Given the description of an element on the screen output the (x, y) to click on. 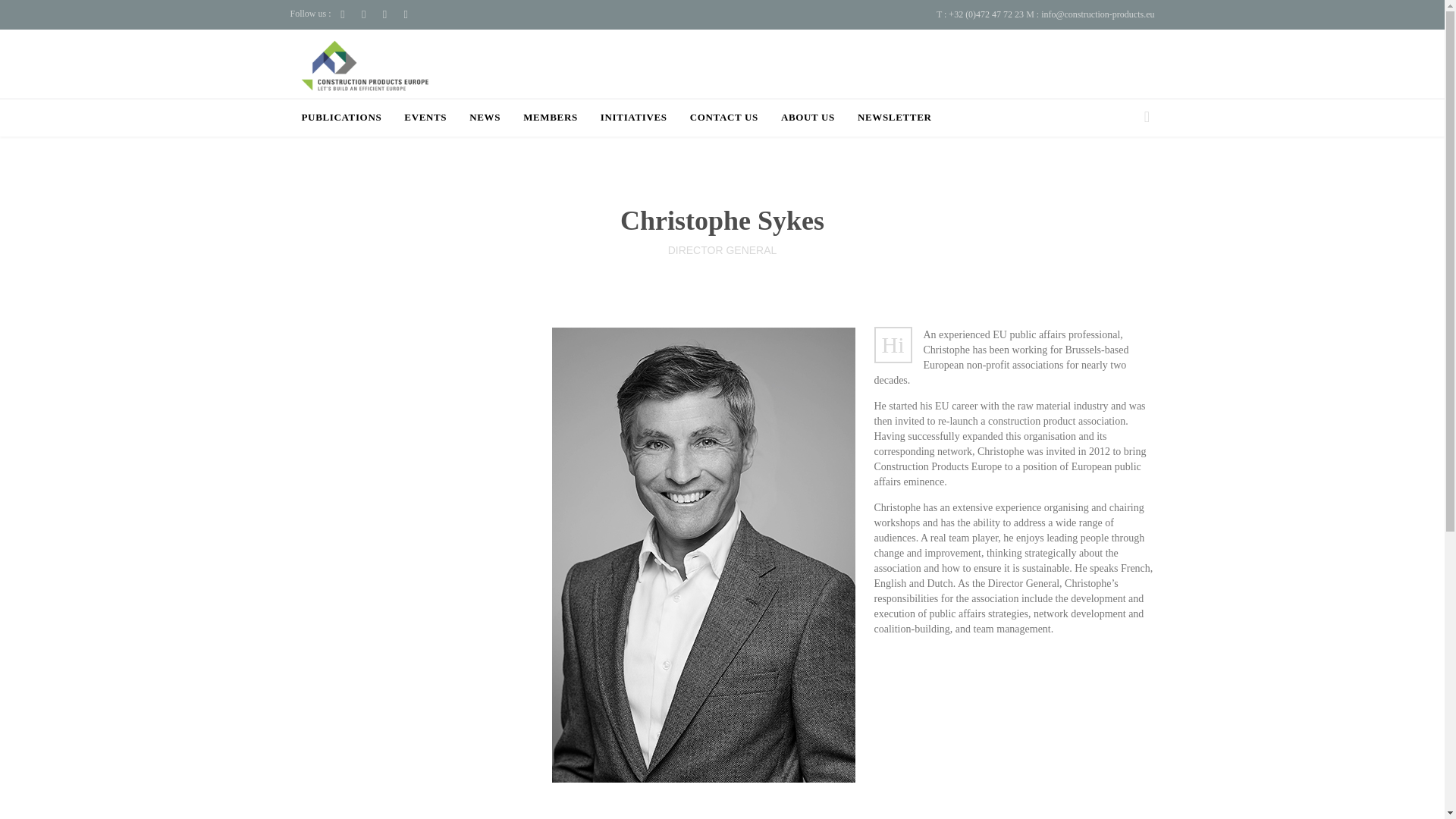
INITIATIVES (632, 118)
EVENTS (425, 118)
PUBLICATIONS (341, 118)
CONTACT US (724, 118)
ABOUT US (807, 118)
NEWSLETTER (894, 118)
MEMBERS (550, 118)
NEWS (484, 118)
